Given the description of an element on the screen output the (x, y) to click on. 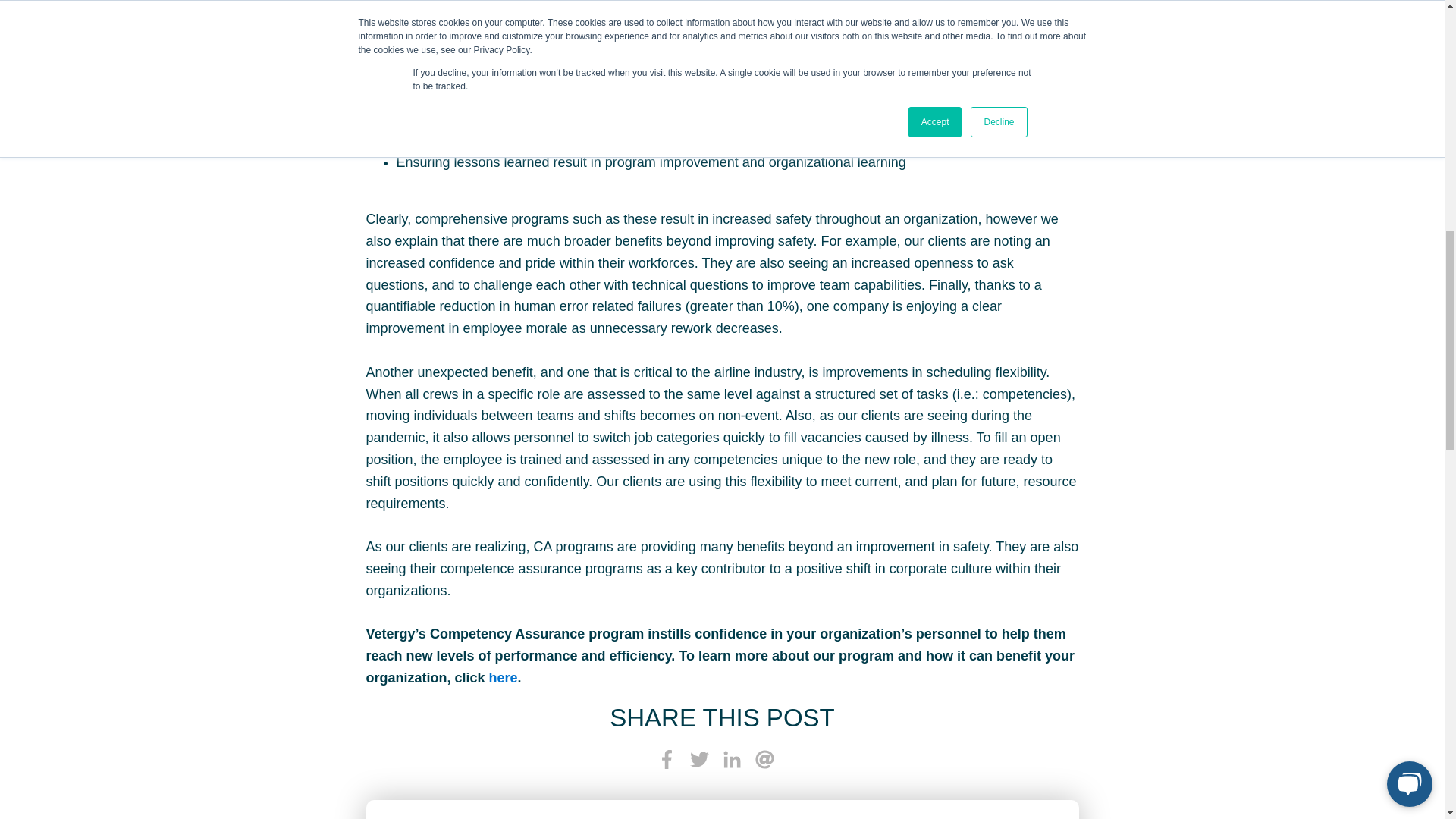
here (503, 677)
